Given the description of an element on the screen output the (x, y) to click on. 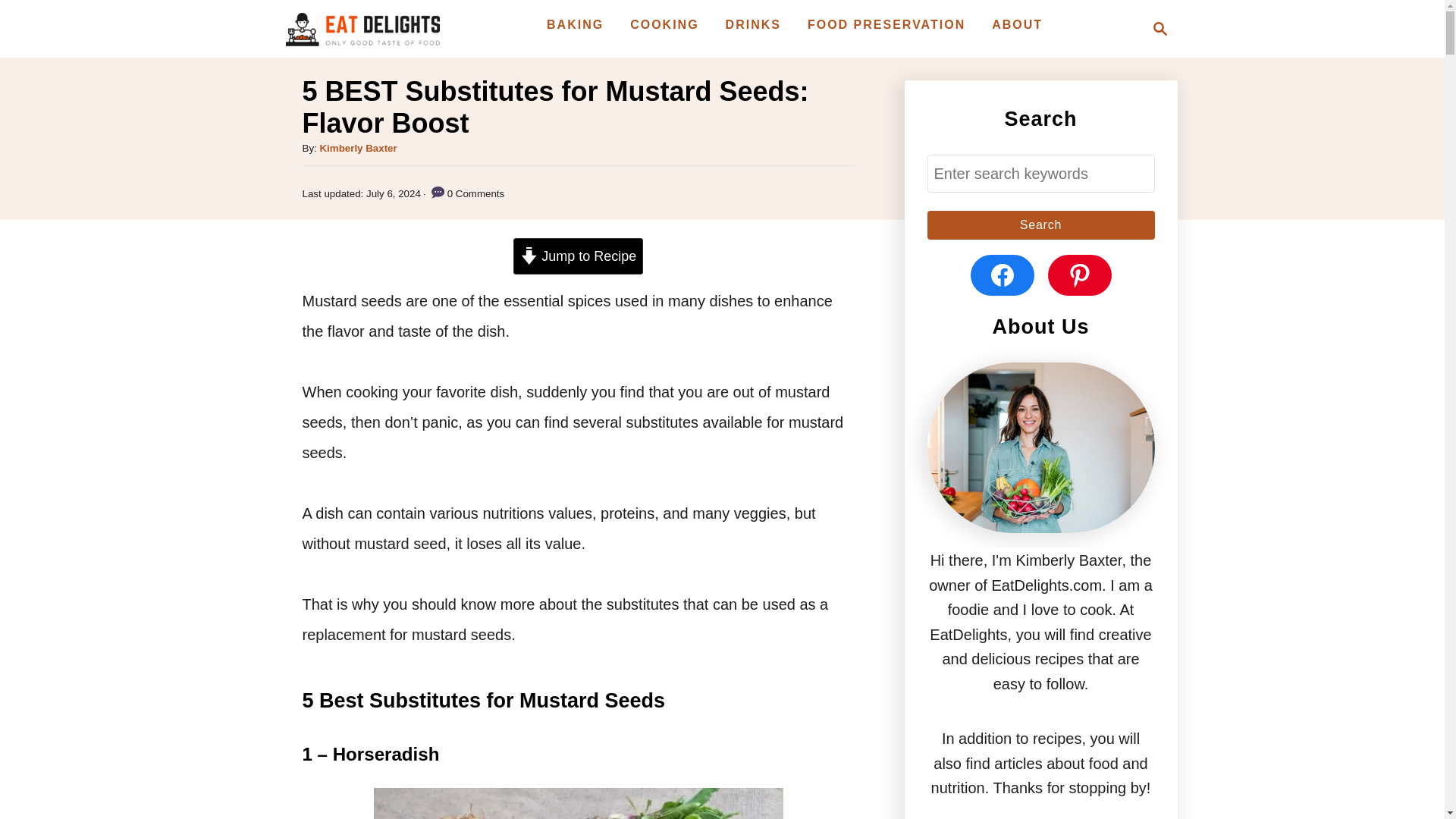
FOOD PRESERVATION (885, 24)
DRINKS (753, 24)
ABOUT (1016, 24)
Jump to Recipe (578, 256)
Kimberly Baxter (357, 147)
Search (1040, 224)
COOKING (664, 24)
BAKING (574, 24)
Search (1040, 224)
Eat Delights (361, 28)
Magnifying Glass (1160, 28)
Search for: (1040, 173)
